Given the description of an element on the screen output the (x, y) to click on. 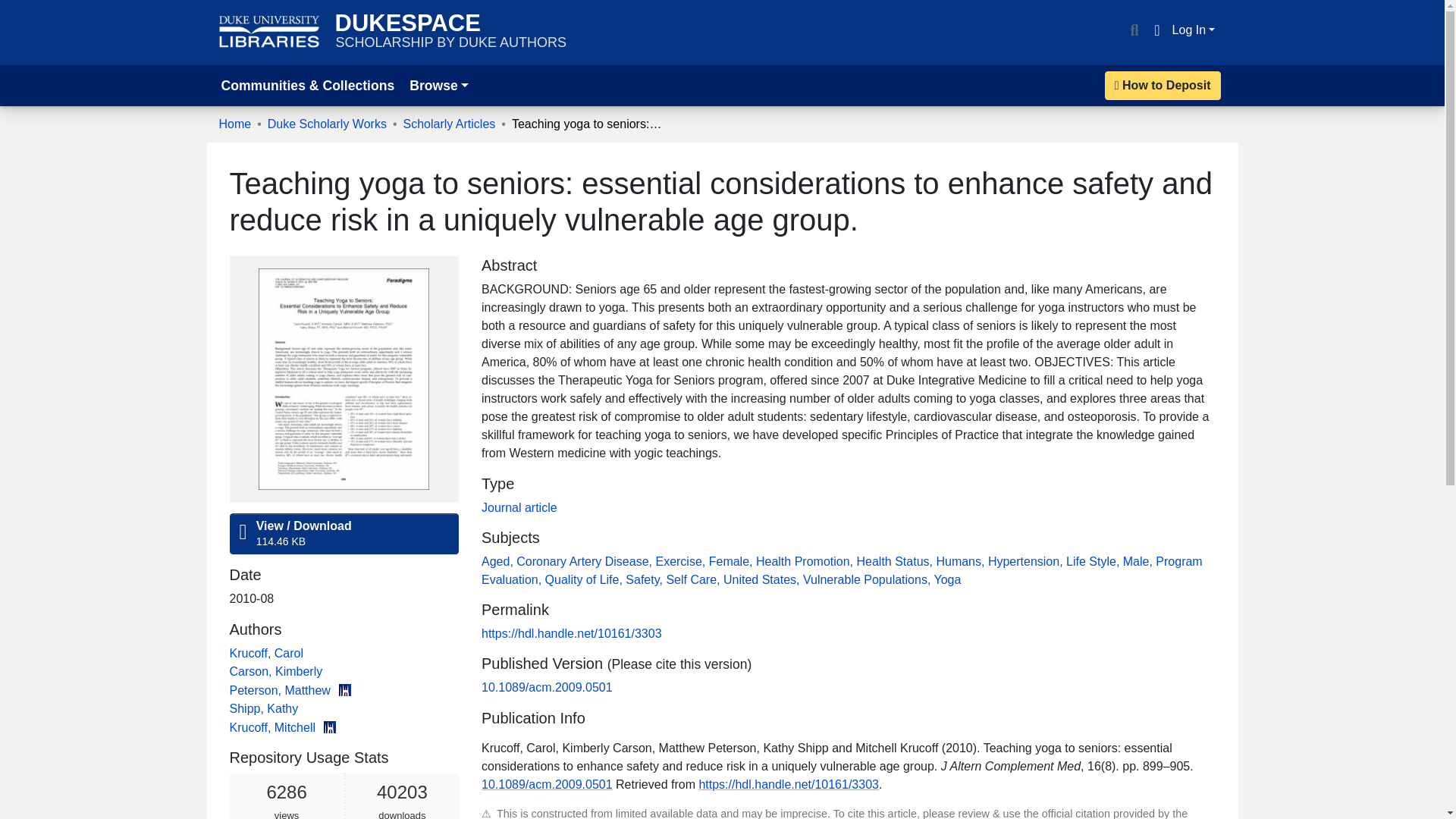
Home (234, 124)
Duke University Libraries (450, 32)
Browse (269, 32)
Coronary Artery Disease, (438, 85)
Krucoff, Mitchell (585, 561)
Health Status, (343, 796)
Skip to Main Content (273, 727)
Humans, (896, 561)
How to Deposit (18, 9)
Scholarly Articles (961, 561)
Shipp, Kathy (1163, 85)
Peterson, Matthew (449, 124)
Aged, (263, 707)
